Given the description of an element on the screen output the (x, y) to click on. 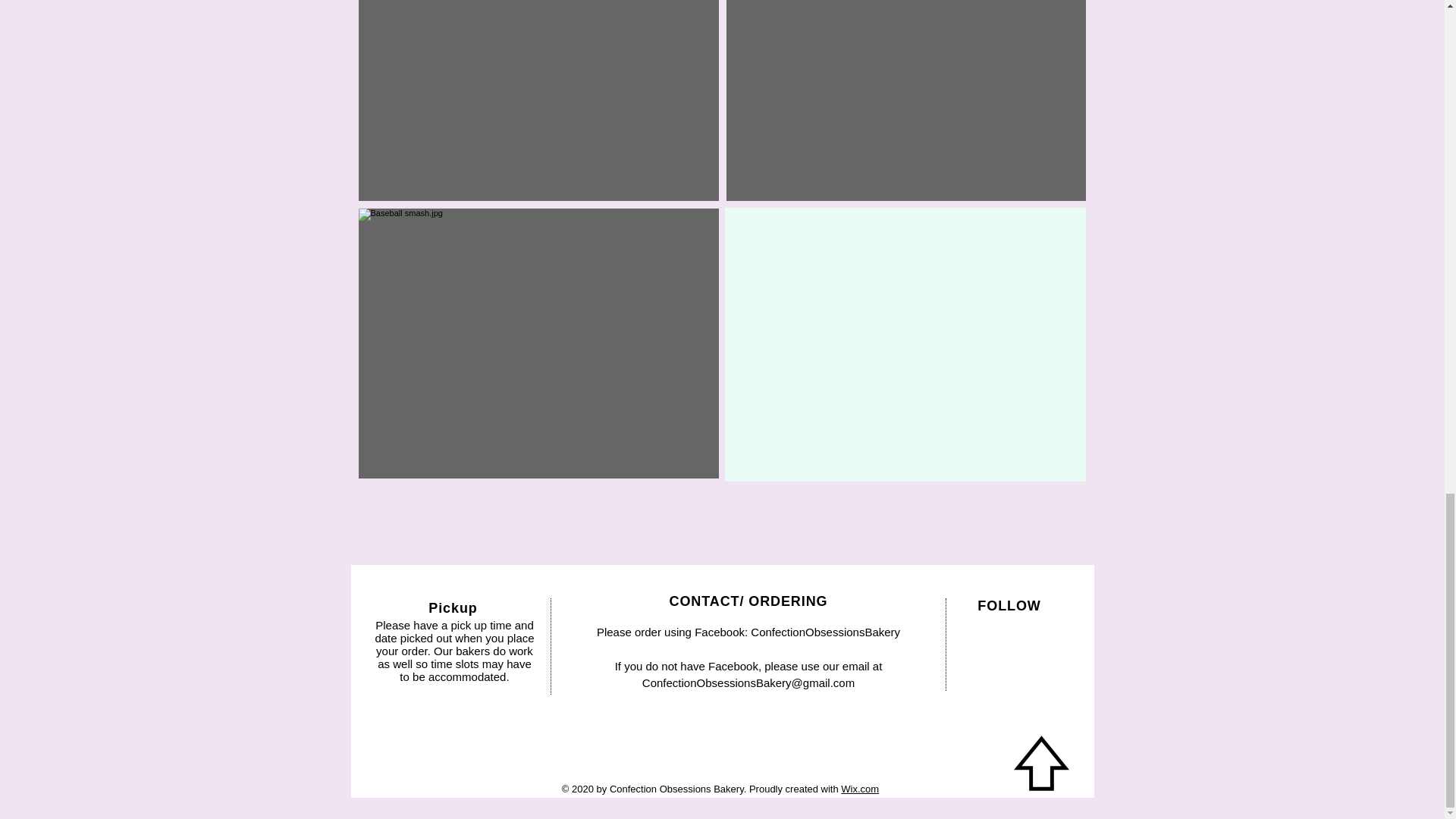
Wix.com (860, 788)
